Given the description of an element on the screen output the (x, y) to click on. 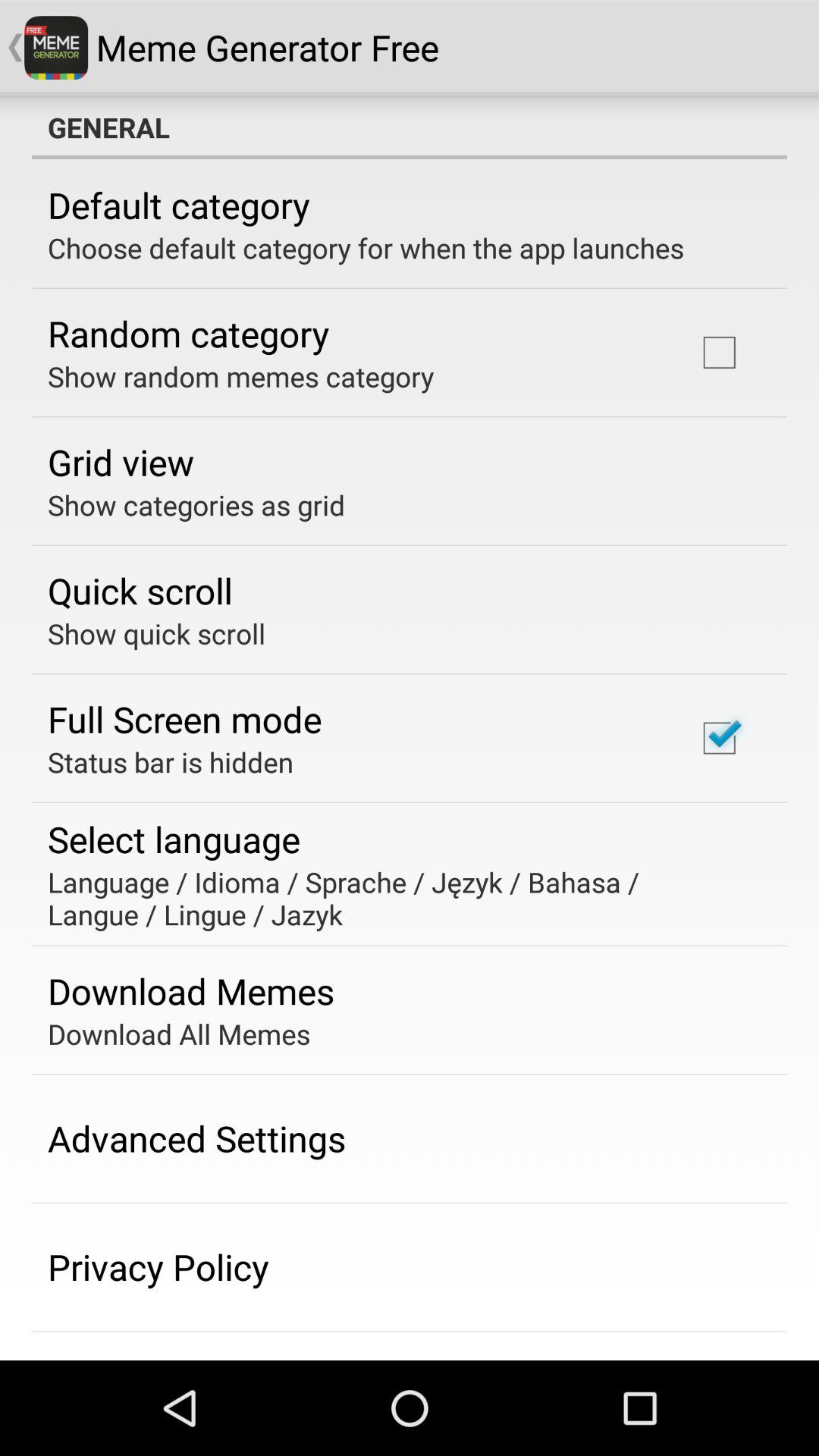
choose the item below the show quick scroll app (184, 719)
